Given the description of an element on the screen output the (x, y) to click on. 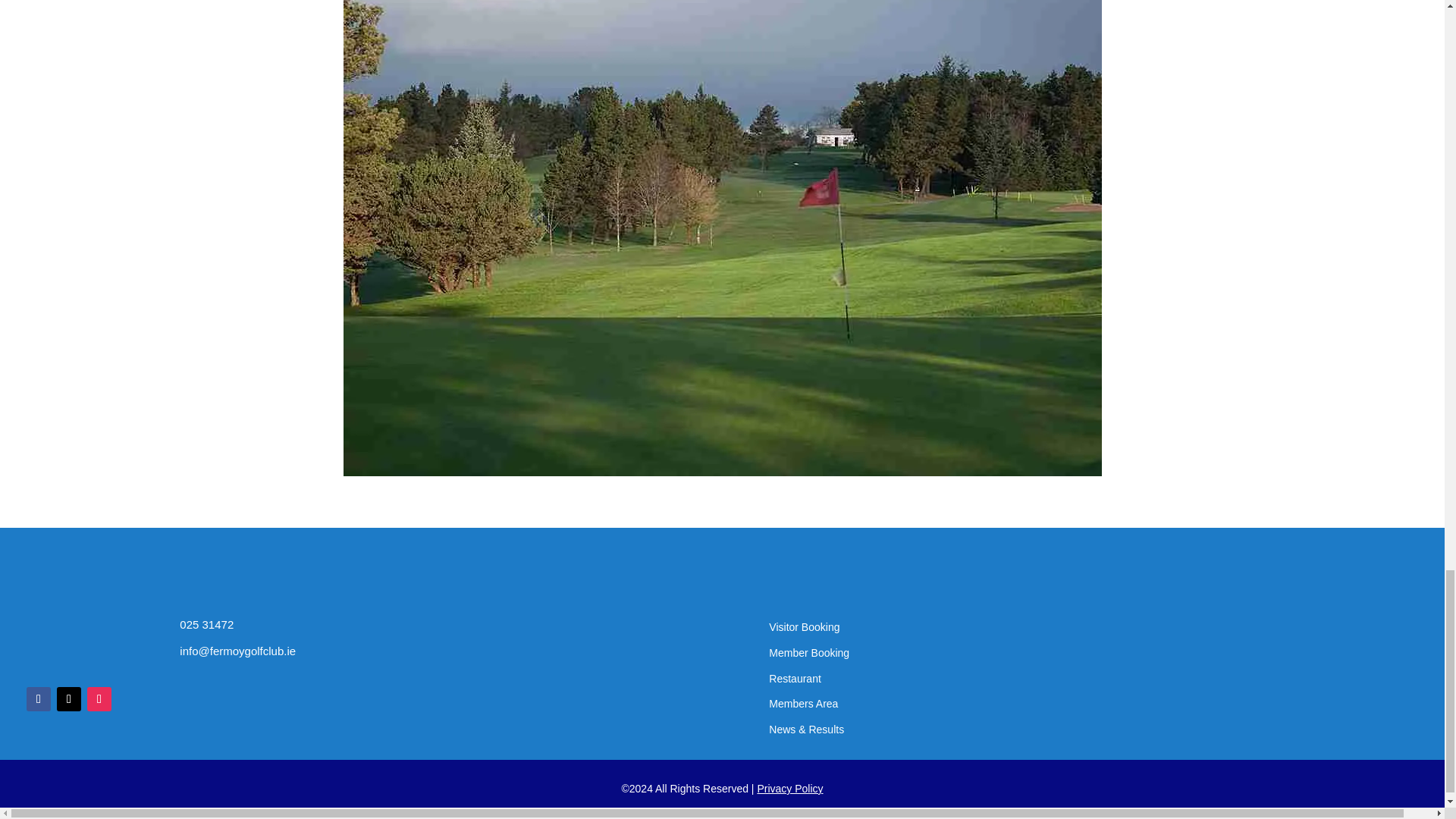
Restaurant (794, 678)
Visitor Booking (804, 626)
025 31472 (205, 624)
Follow on X (68, 699)
Member Booking (808, 653)
Privacy Policy (789, 788)
Follow on Facebook (38, 699)
Follow on Instagram (99, 699)
